Given the description of an element on the screen output the (x, y) to click on. 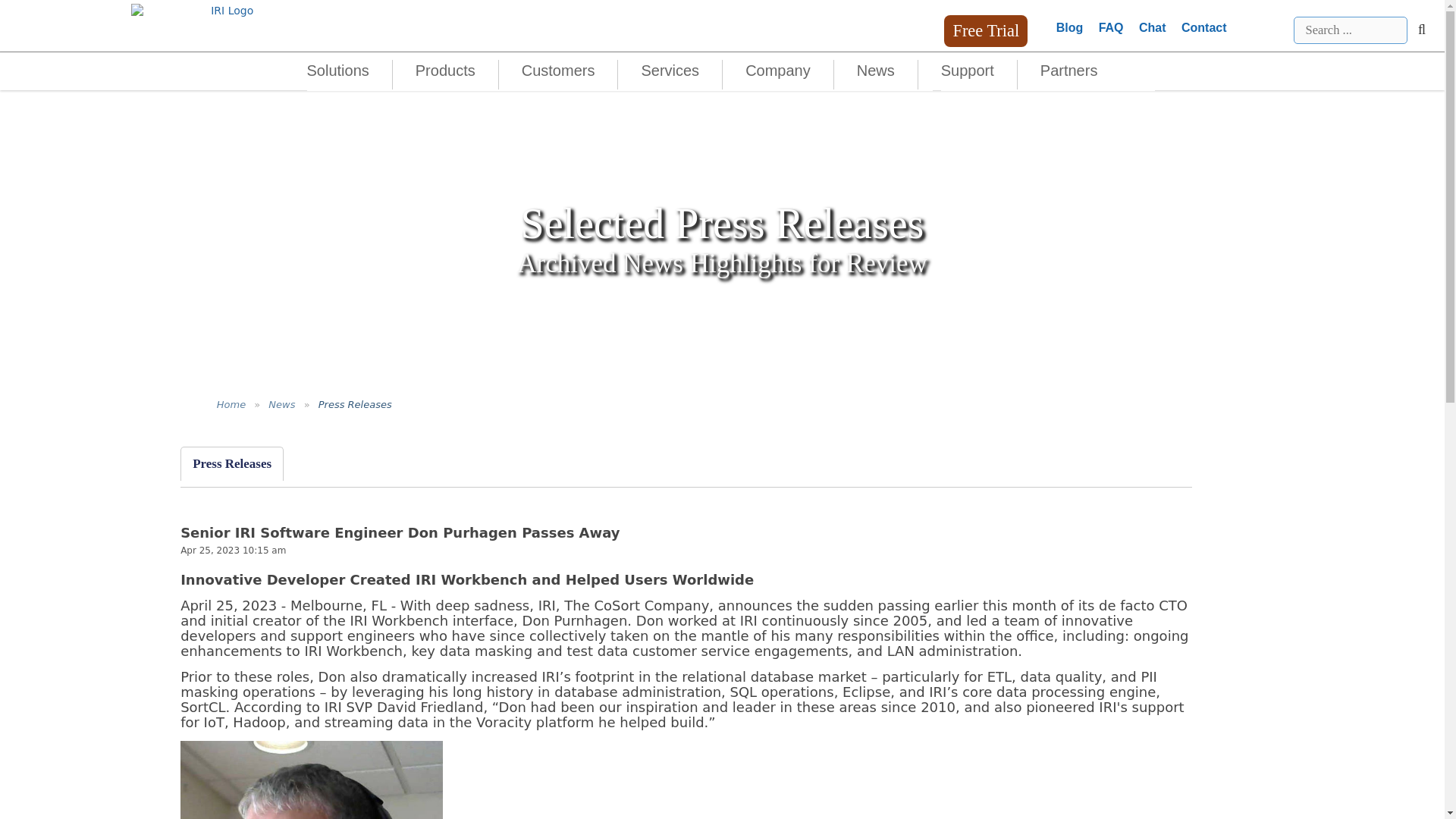
Free Trial (985, 30)
Contact (1203, 27)
FAQ (1111, 27)
Chat (1152, 27)
Blog (1070, 27)
